Given the description of an element on the screen output the (x, y) to click on. 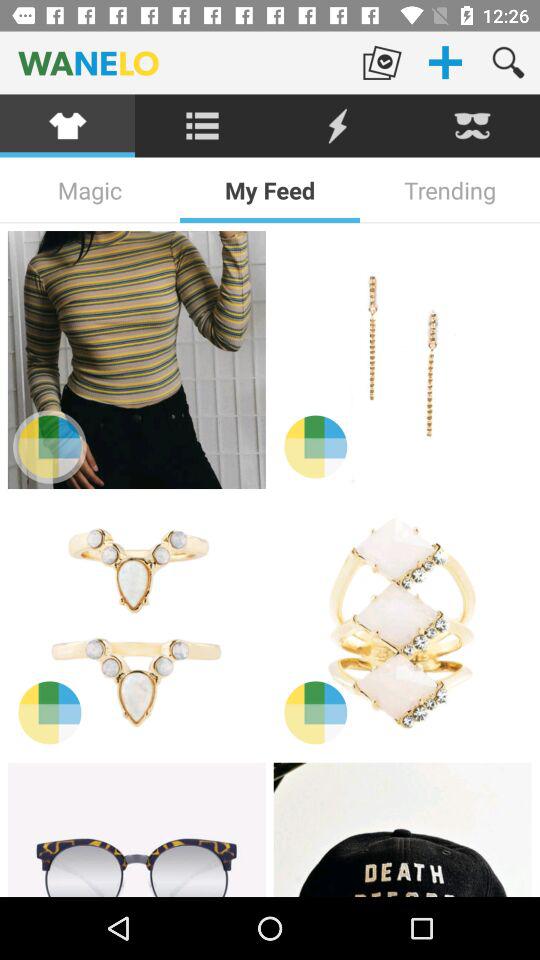
tap the item above my feed icon (337, 125)
